Given the description of an element on the screen output the (x, y) to click on. 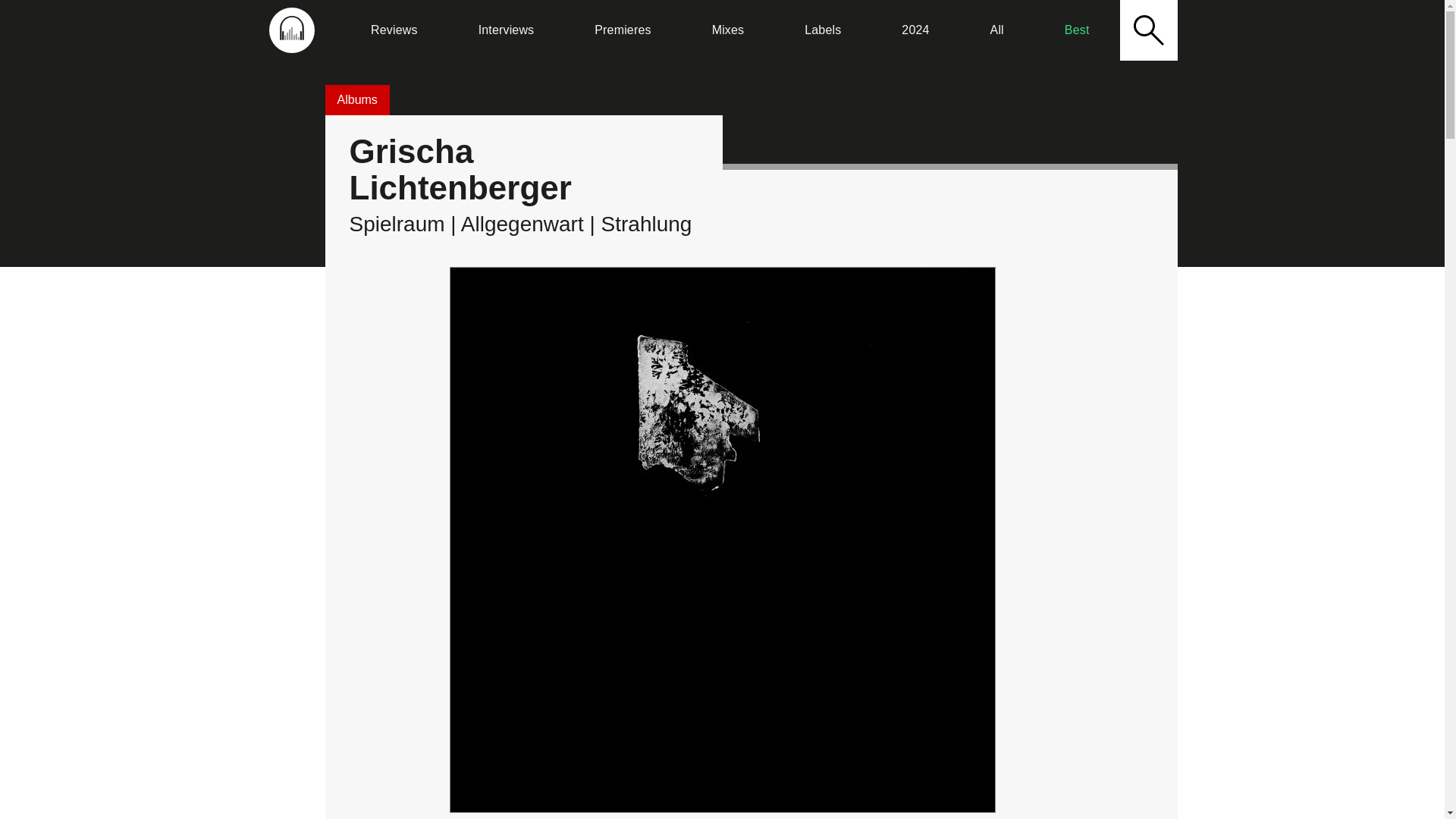
Albums (356, 100)
Best (1077, 30)
2024 (914, 30)
Labels (822, 30)
Premieres (622, 30)
Mixes (728, 30)
Reviews (394, 30)
Interviews (505, 30)
